Given the description of an element on the screen output the (x, y) to click on. 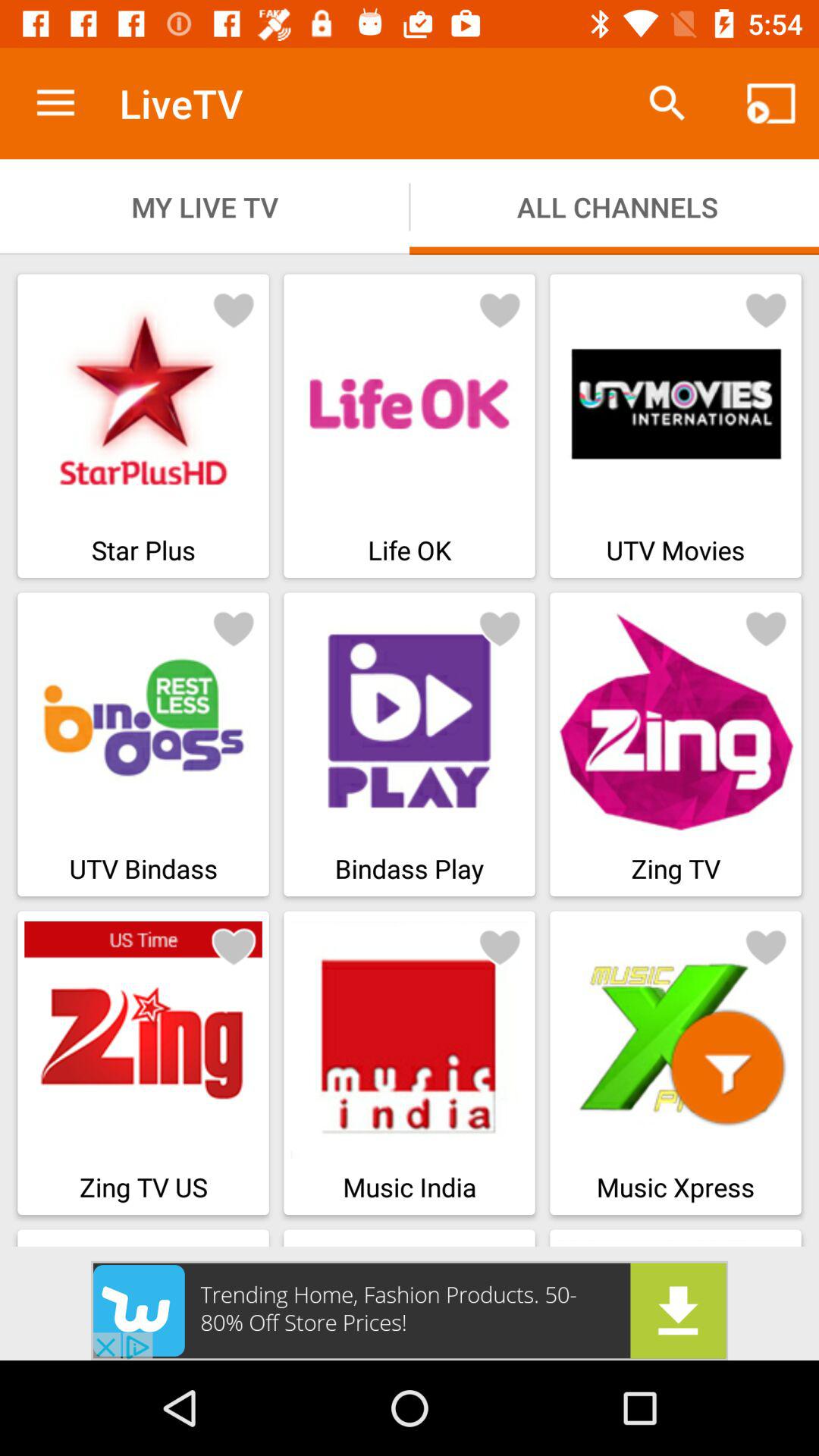
like page (766, 946)
